Given the description of an element on the screen output the (x, y) to click on. 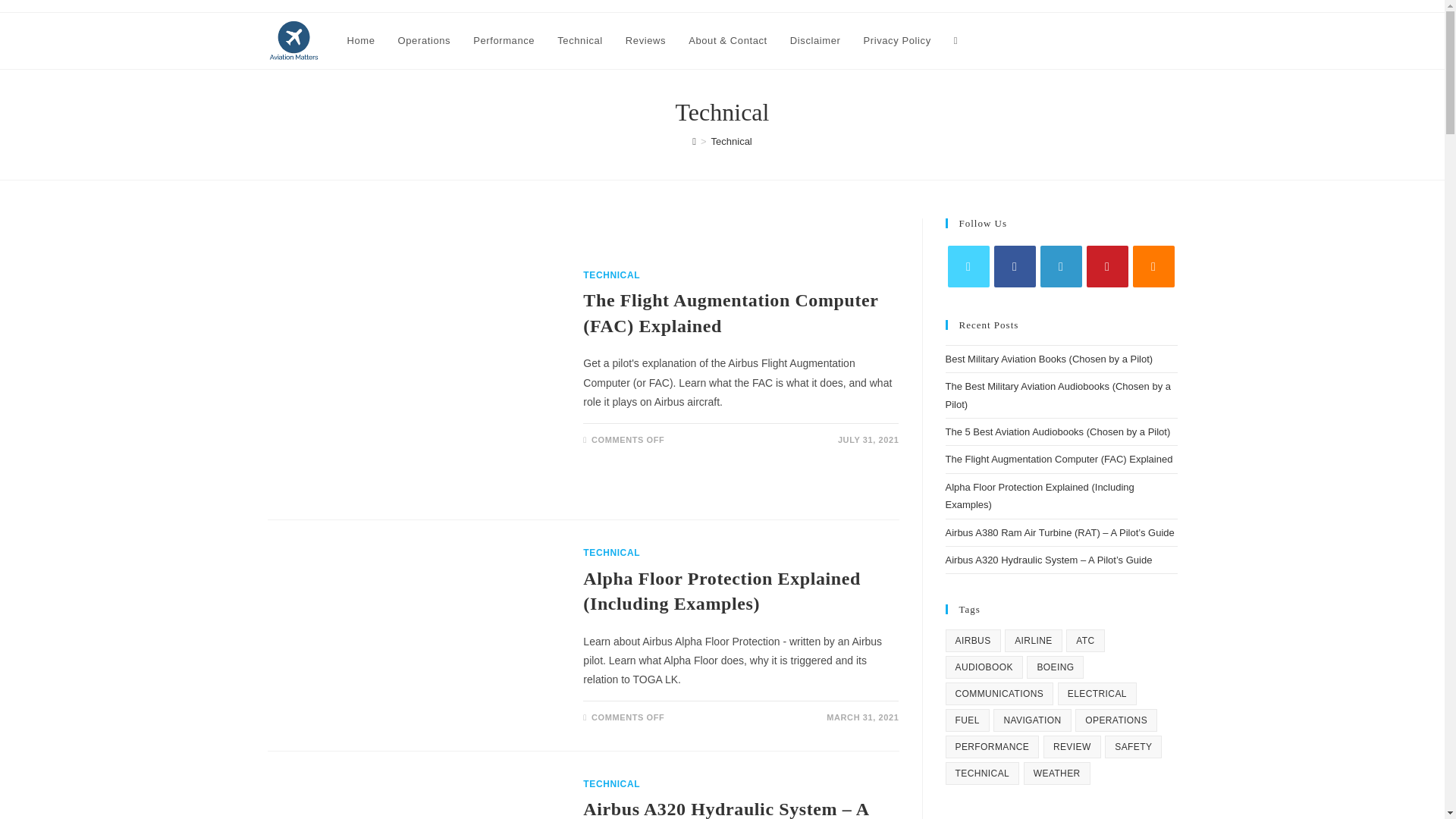
Disclaimer (814, 40)
Performance (503, 40)
Home (359, 40)
Technical (580, 40)
TECHNICAL (611, 552)
Reviews (645, 40)
Privacy Policy (896, 40)
TECHNICAL (611, 783)
TECHNICAL (611, 275)
Operations (425, 40)
